Given the description of an element on the screen output the (x, y) to click on. 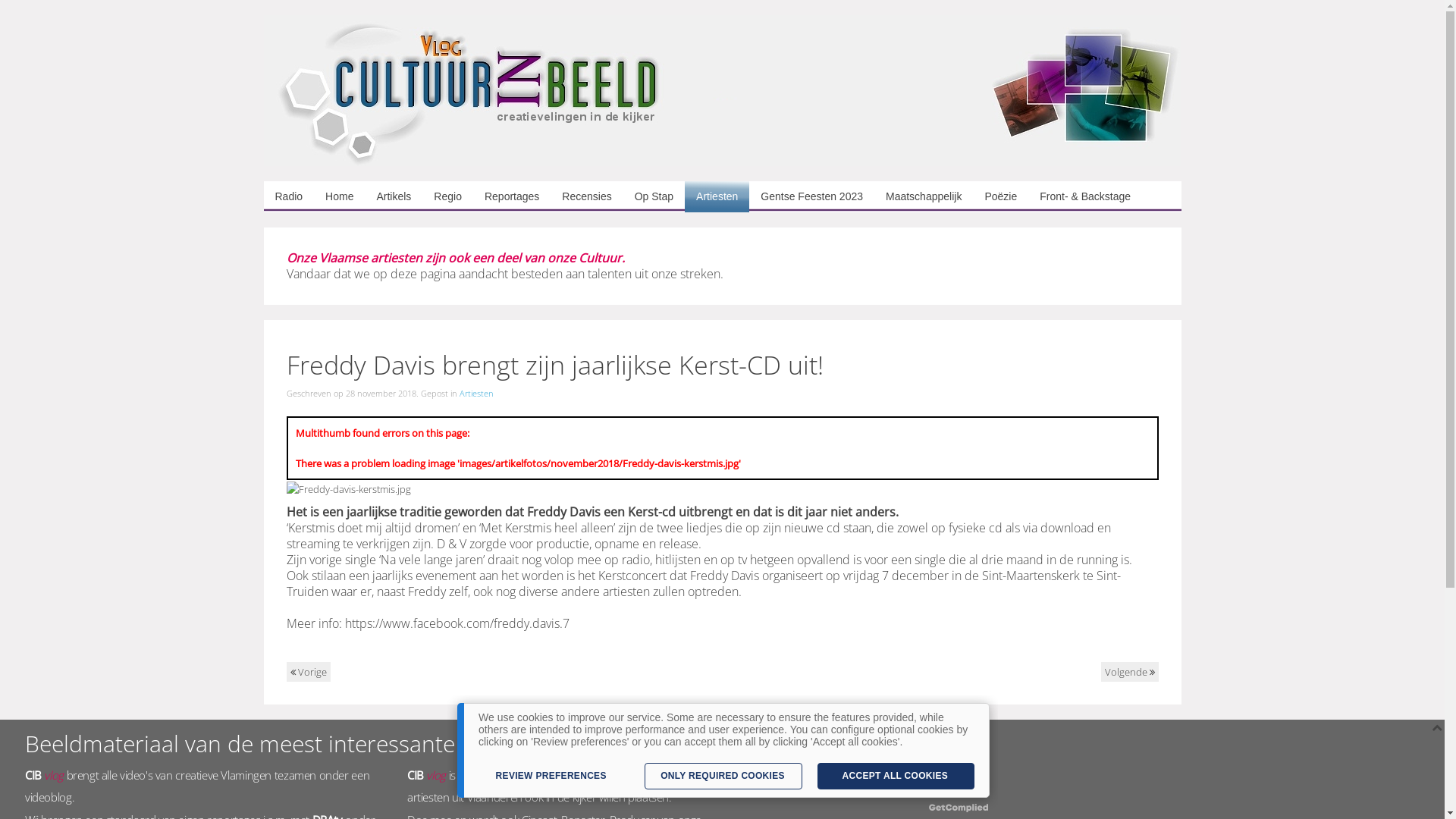
Vorige Element type: text (308, 671)
Artiesten Element type: text (716, 196)
Artiesten Element type: text (476, 392)
Op Stap Element type: text (653, 196)
Gentse Feesten 2023 Element type: text (811, 196)
Home Element type: text (338, 196)
Maatschappelijk Element type: text (923, 196)
Front- & Backstage Element type: text (1085, 196)
Artikels Element type: text (393, 196)
Volgende Element type: text (1129, 671)
Radio Element type: text (288, 196)
Reportages Element type: text (511, 196)
Regio Element type: text (447, 196)
Recensies Element type: text (586, 196)
